Given the description of an element on the screen output the (x, y) to click on. 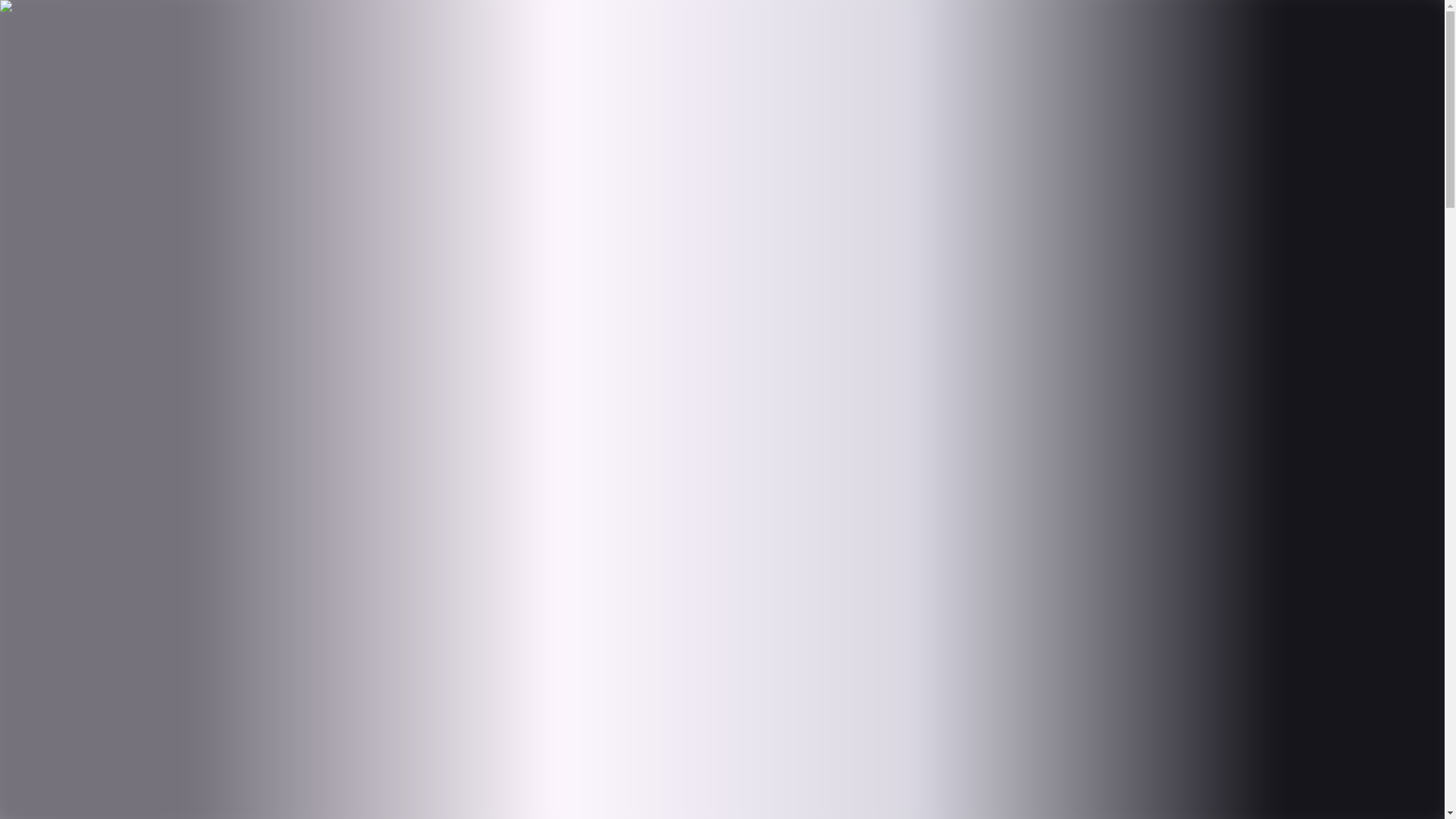
Cn (34, 25)
Translation (63, 119)
Pricing (53, 133)
Refer a Friend (272, 25)
Home (50, 78)
